Given the description of an element on the screen output the (x, y) to click on. 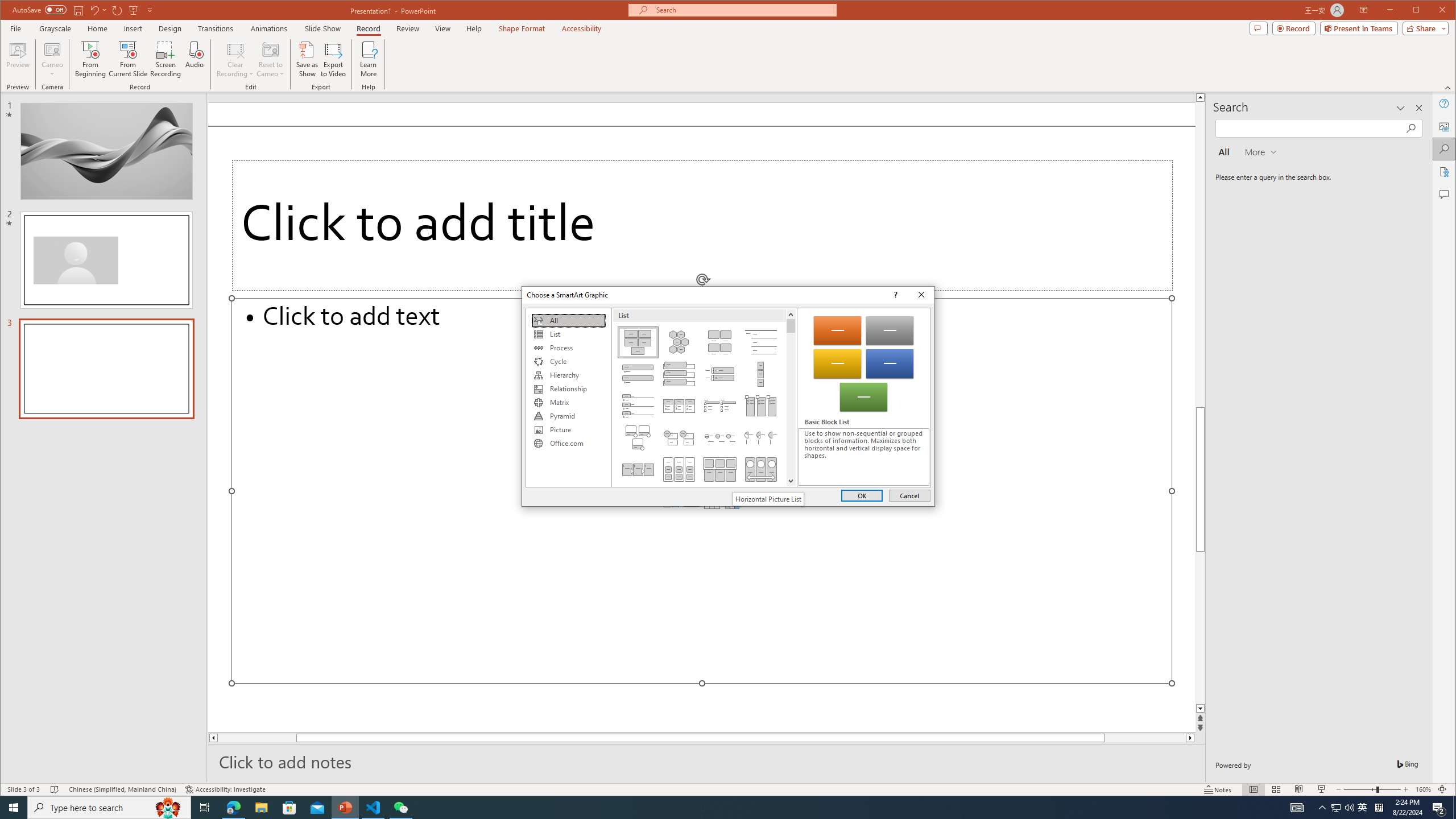
Pyramid (568, 416)
Pie Process (761, 437)
Vertical Bullet List (637, 373)
Export to Video (333, 59)
Graphic Categories (568, 397)
Graphic Layouts (703, 397)
Class: NetUIScrollBar (790, 397)
Picture Caption List (719, 342)
